Given the description of an element on the screen output the (x, y) to click on. 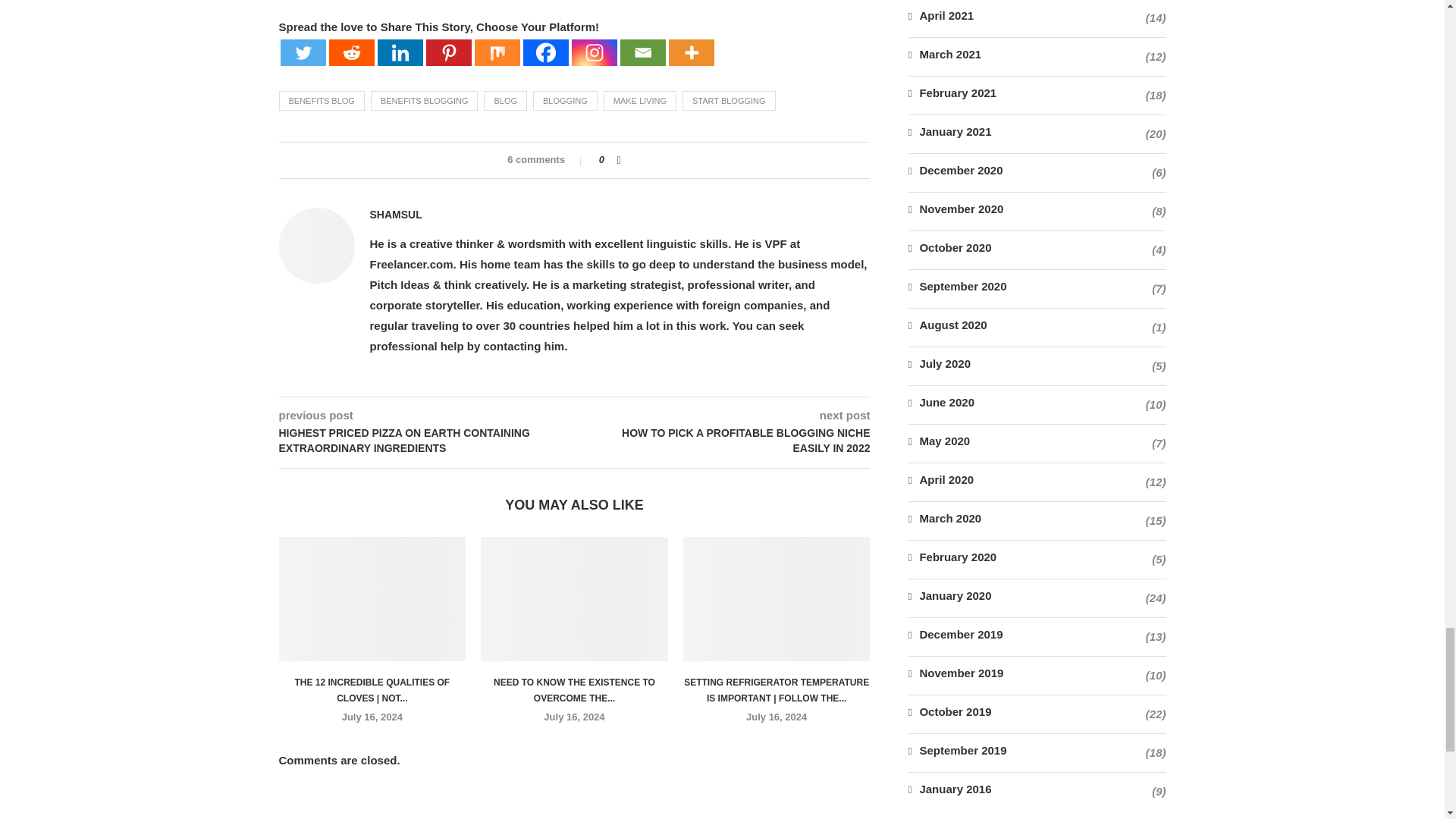
Twitter (303, 52)
Reddit (351, 52)
